Given the description of an element on the screen output the (x, y) to click on. 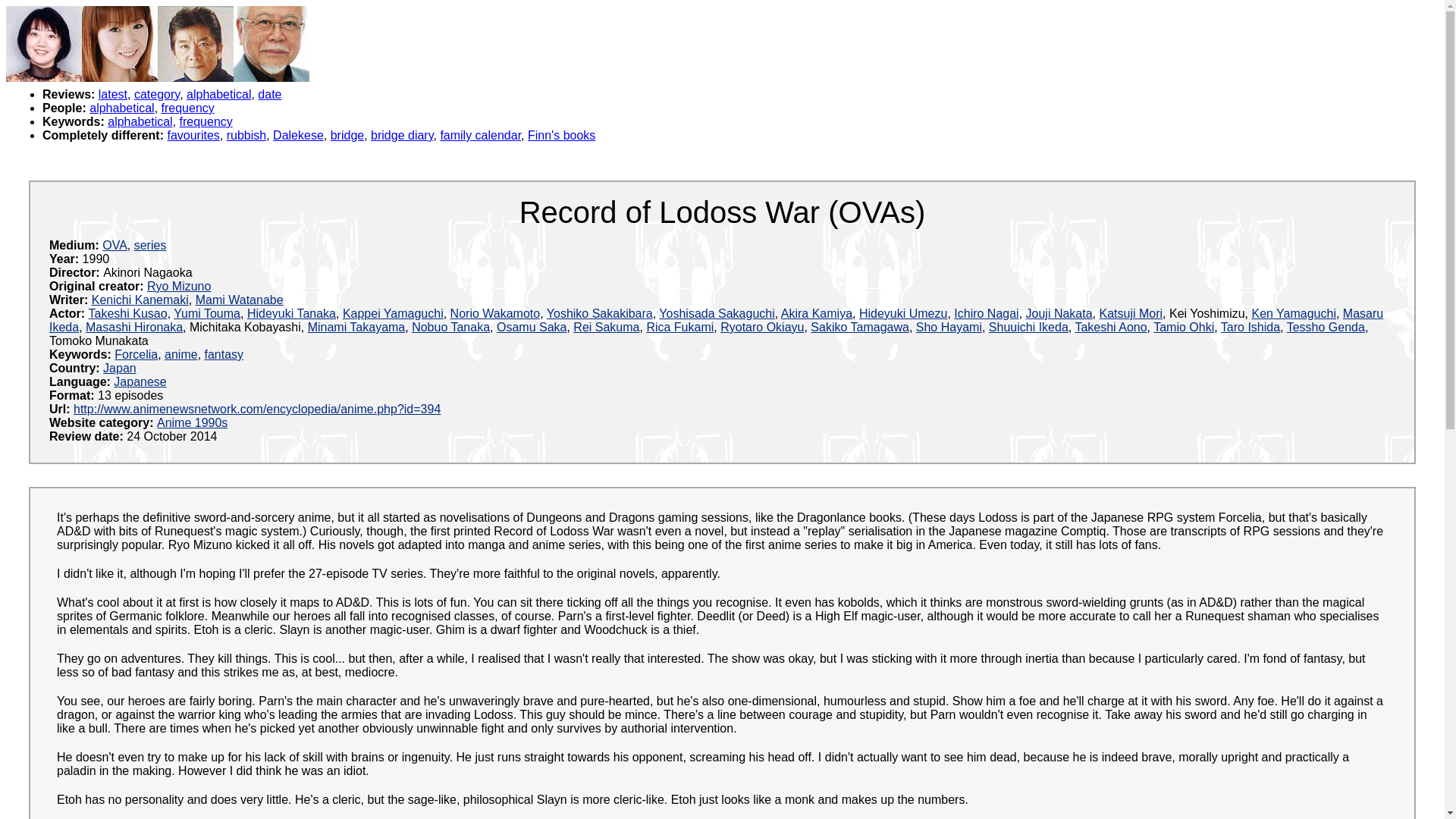
OVA (114, 245)
Ryotaro Okiayu (761, 327)
Taro Ishida (1250, 327)
Tessho Genda (1326, 327)
Takeshi Aono (1110, 327)
Masashi Hironaka (134, 327)
anime (181, 354)
Yoshiko Sakakibara (599, 313)
Ryo Mizuno (179, 286)
Jouji Nakata (1059, 313)
Shuuichi Ikeda (1028, 327)
Katsuji Mori (1131, 313)
Hideyuki Umezu (903, 313)
fantasy (224, 354)
Ichiro Nagai (985, 313)
